Given the description of an element on the screen output the (x, y) to click on. 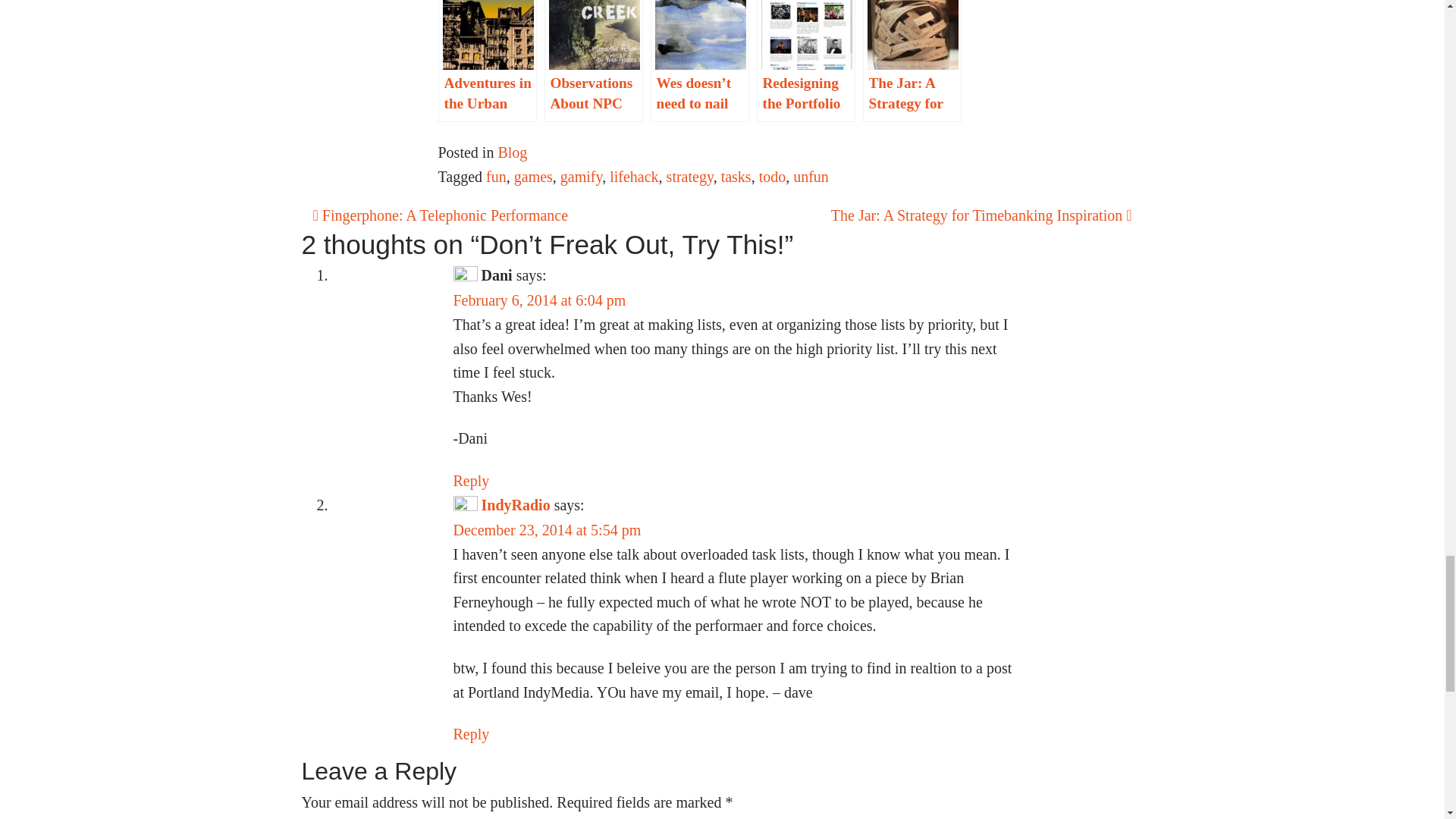
 Fingerphone: A Telephonic Performance (440, 215)
lifehack (634, 176)
The Jar: A Strategy for Timebanking Inspiration  (981, 215)
February 6, 2014 at 6:04 pm (539, 299)
fun (496, 176)
games (533, 176)
strategy (689, 176)
Blog (512, 152)
gamify (581, 176)
todo (772, 176)
unfun (810, 176)
tasks (735, 176)
